Given the description of an element on the screen output the (x, y) to click on. 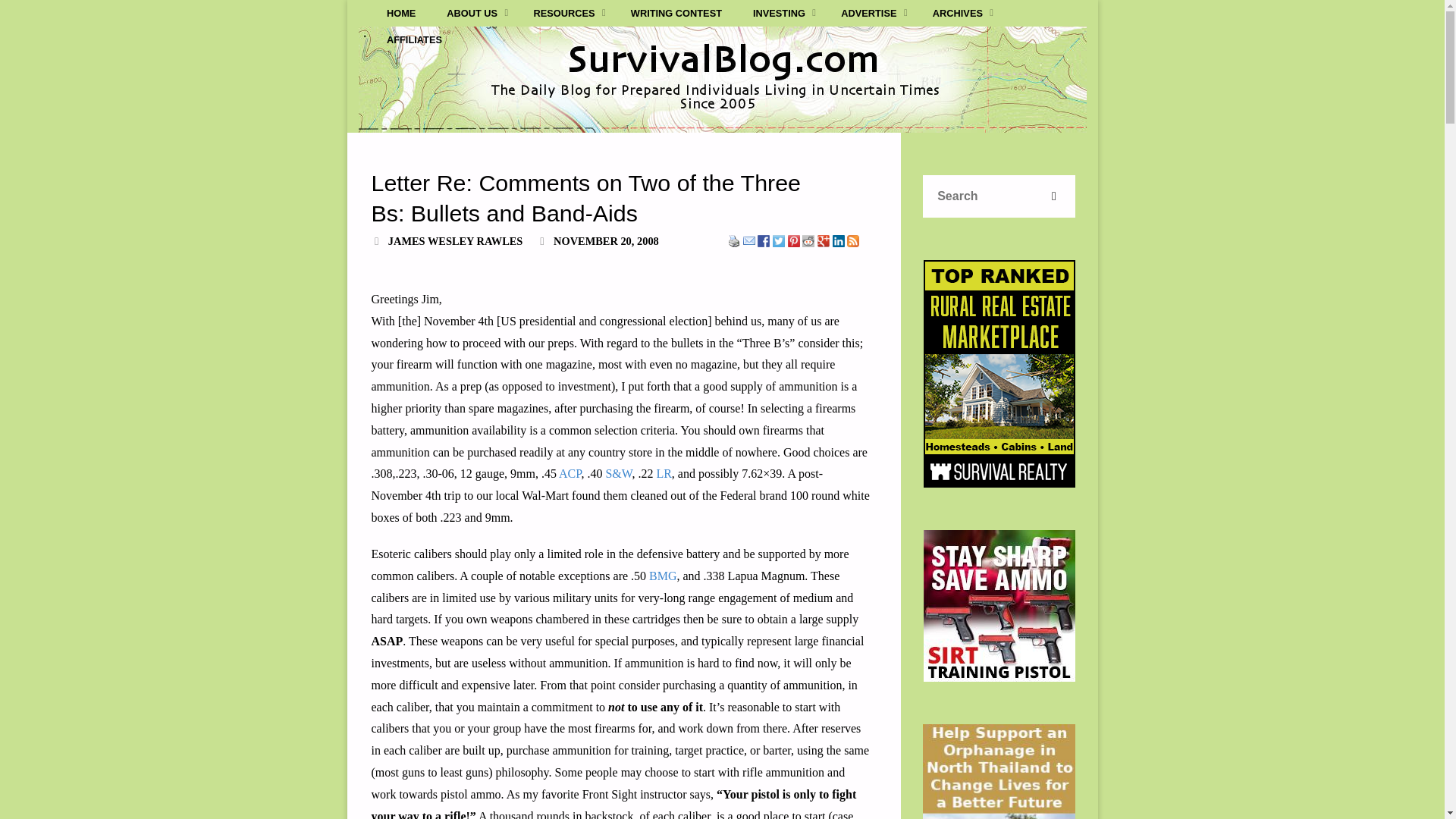
Print This Post (733, 241)
Print This Post (733, 239)
BaanSuFan Home (999, 771)
Email This Post (748, 241)
View all posts by James Wesley Rawles (455, 241)
Email This Post (748, 239)
NextLevel Training (999, 605)
